Given the description of an element on the screen output the (x, y) to click on. 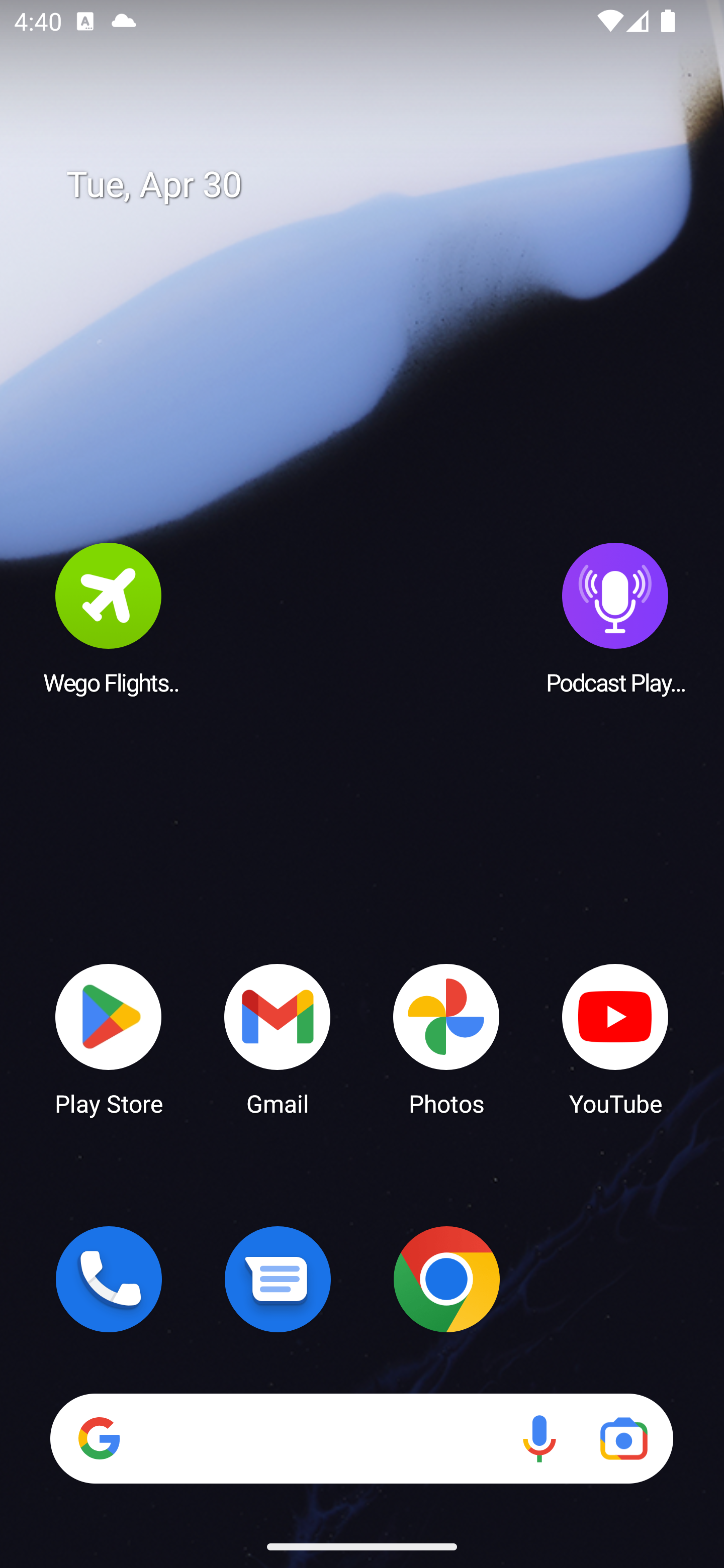
Tue, Apr 30 (375, 184)
Wego Flights & Hotels (108, 617)
Podcast Player (615, 617)
Play Store (108, 1038)
Gmail (277, 1038)
Photos (445, 1038)
YouTube (615, 1038)
Phone (108, 1279)
Messages (277, 1279)
Chrome (446, 1279)
Voice search (539, 1438)
Google Lens (623, 1438)
